Given the description of an element on the screen output the (x, y) to click on. 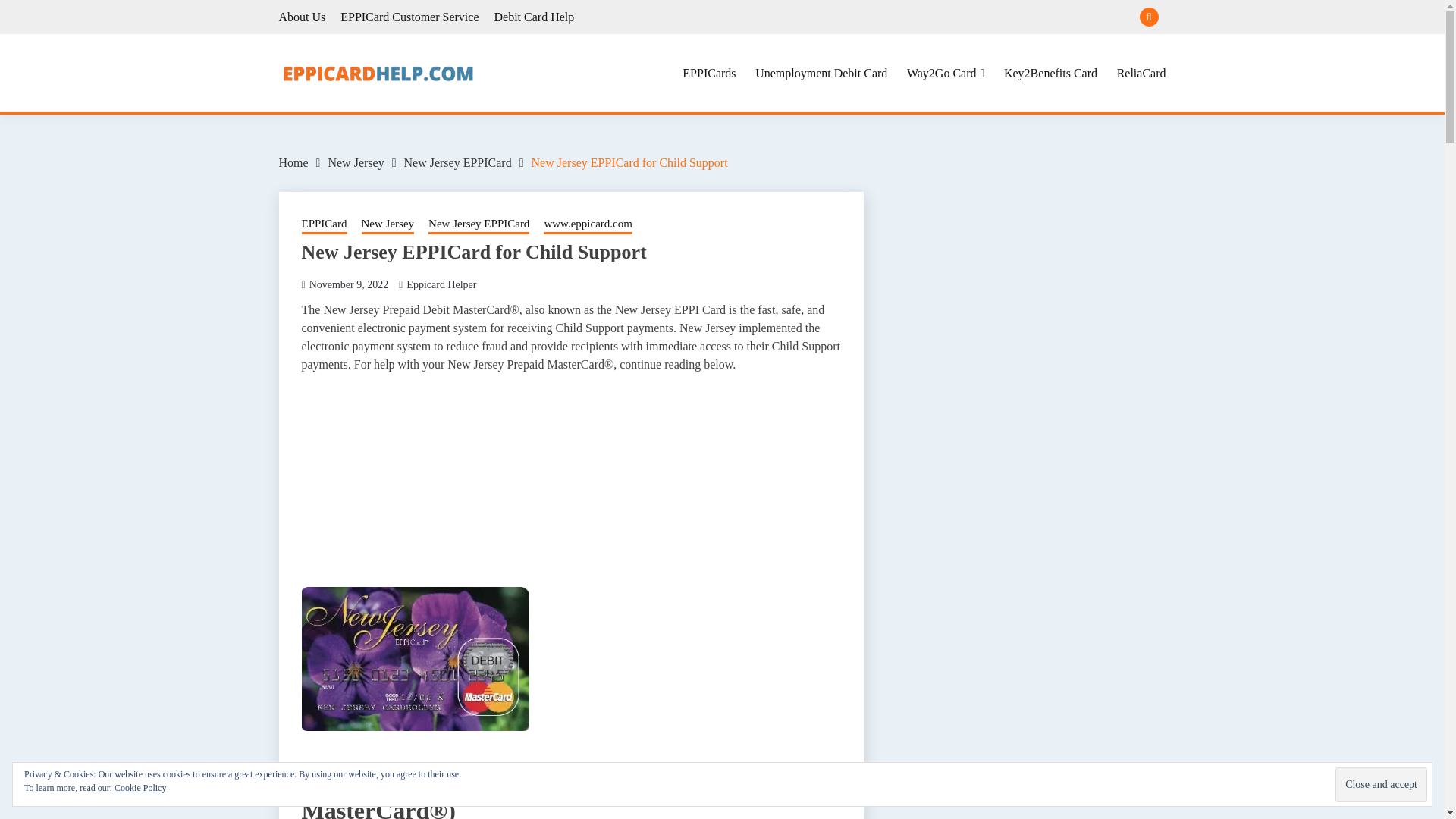
Way2Go Card (945, 73)
Search (832, 18)
New Jersey EPPICard for Child Support (629, 162)
EPPICard Customer Service (409, 16)
Close and accept (1380, 784)
New Jersey EPPICard (457, 162)
ReliaCard (1141, 73)
Debit Card Help (533, 16)
EPPICARD HELP (465, 124)
November 9, 2022 (348, 284)
